Given the description of an element on the screen output the (x, y) to click on. 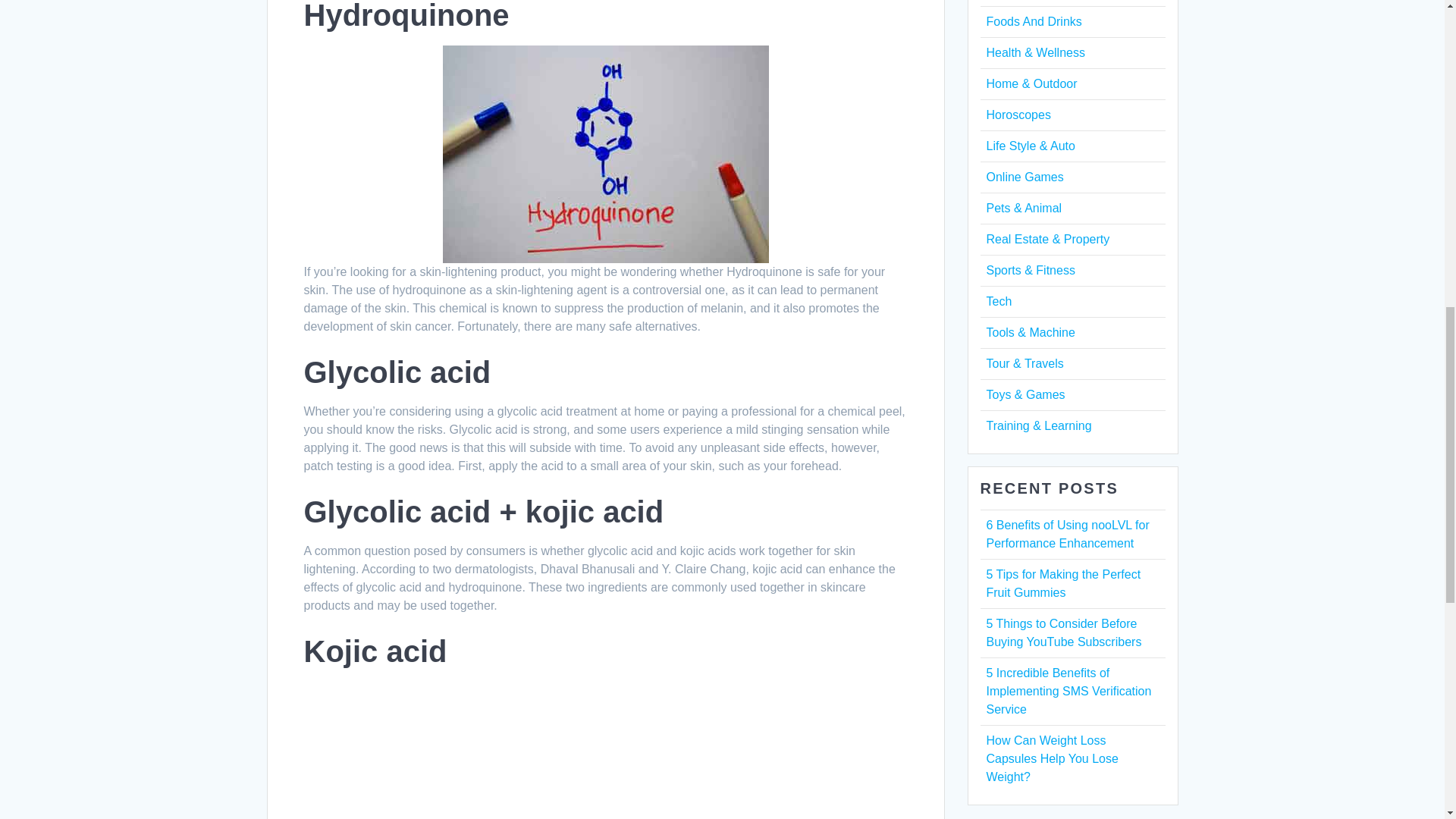
Tech (998, 300)
5 Tips for Making the Perfect Fruit Gummies (1062, 583)
Online Games (1023, 176)
Horoscopes (1017, 114)
Foods And Drinks (1033, 21)
6 Benefits of Using nooLVL for Performance Enhancement (1066, 533)
